Given the description of an element on the screen output the (x, y) to click on. 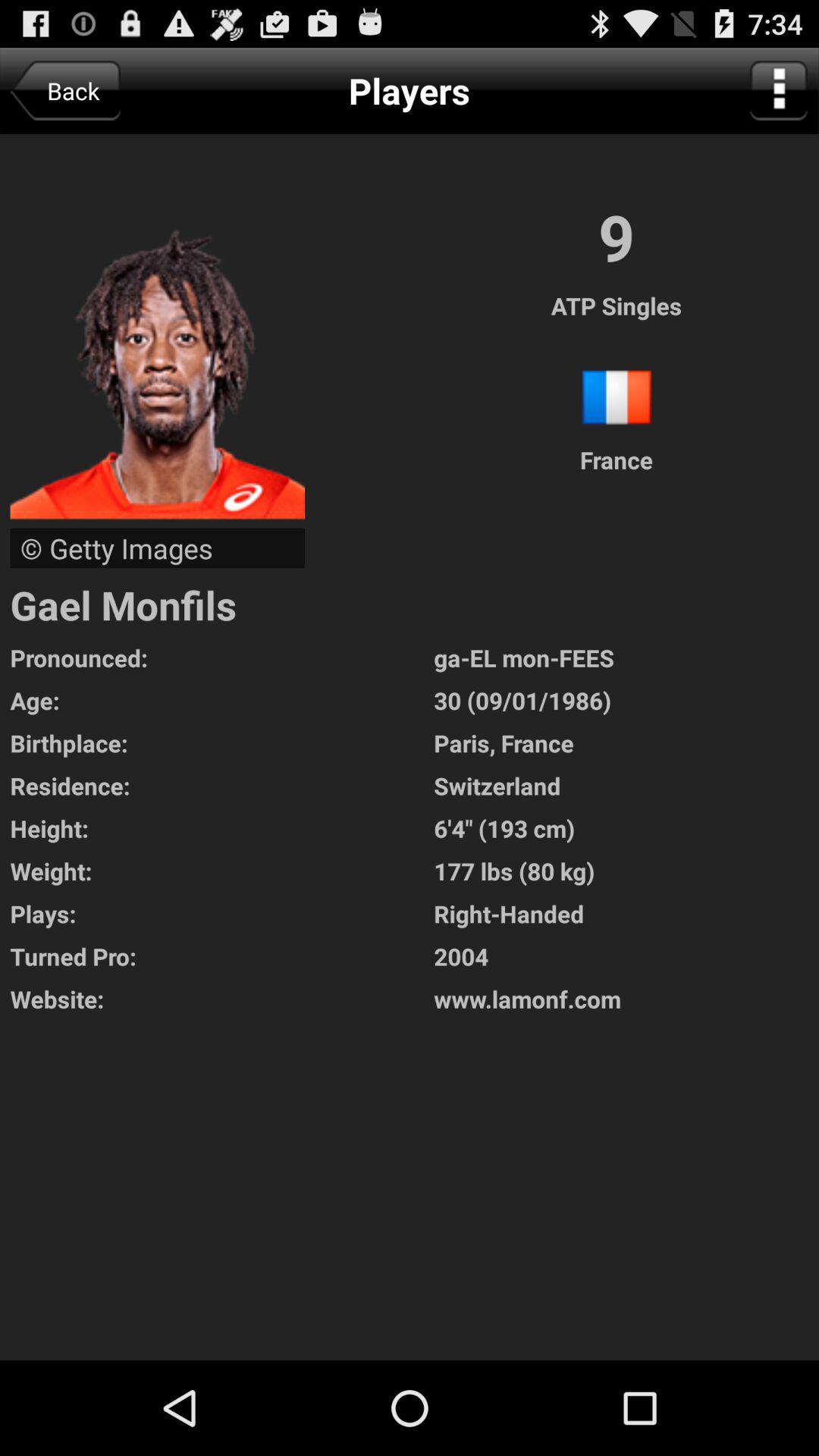
turn on the app above weight: item (626, 828)
